Given the description of an element on the screen output the (x, y) to click on. 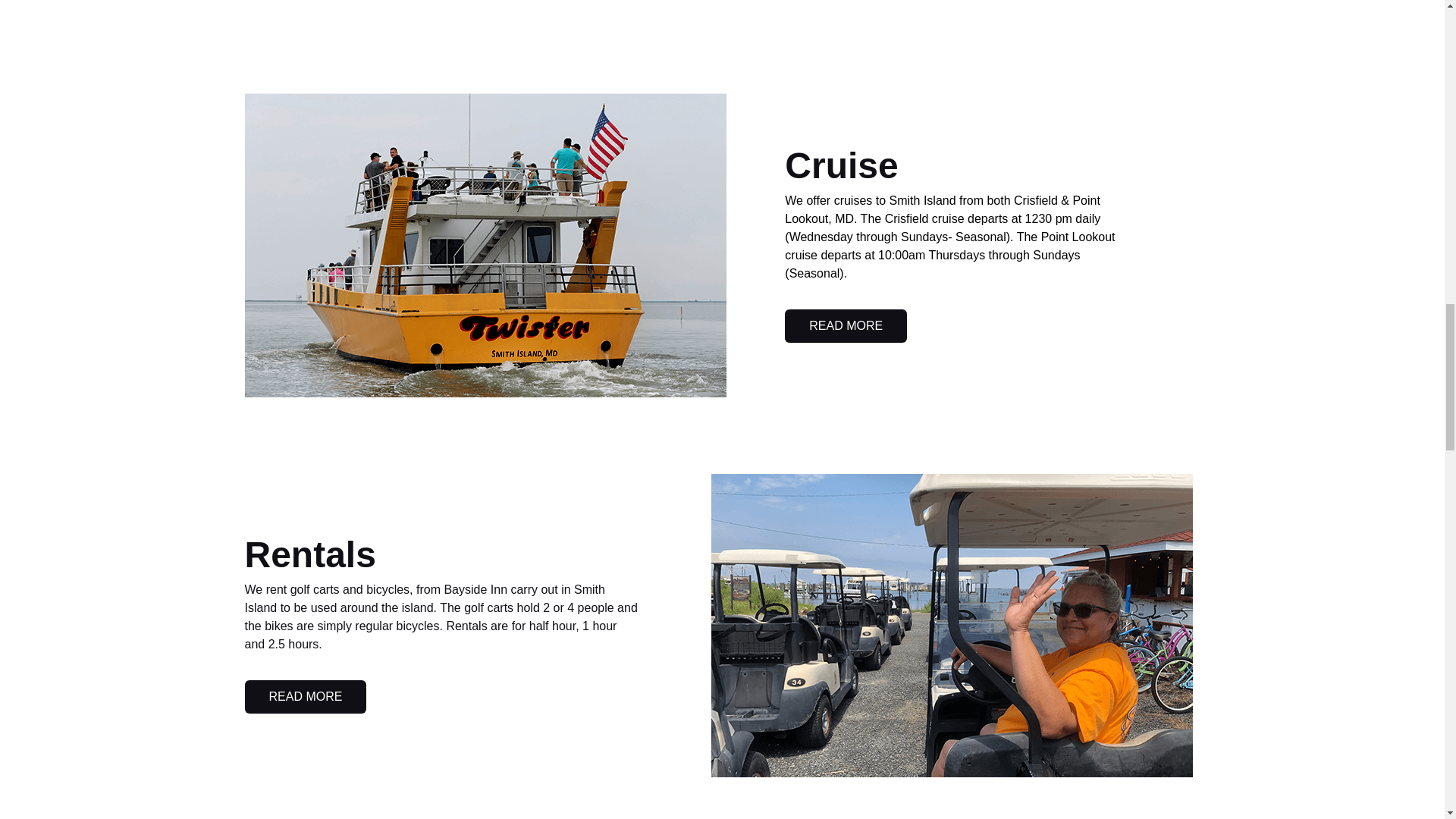
READ MORE (845, 326)
READ MORE (305, 696)
